Given the description of an element on the screen output the (x, y) to click on. 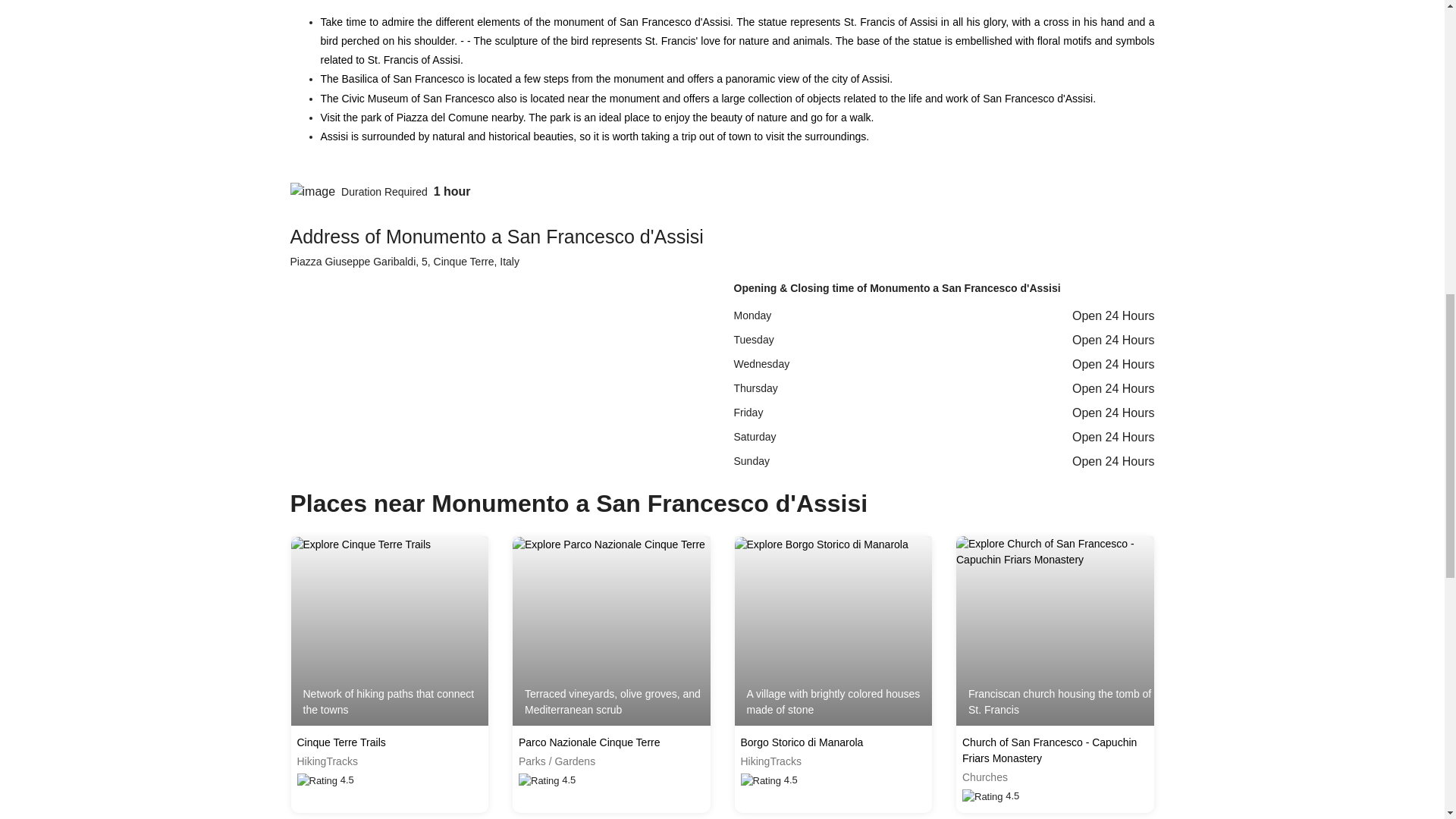
Explore Borgo Storico di Manarola  (820, 544)
Churches (1055, 777)
Terraced vineyards, olive groves, and Mediterranean scrub (611, 630)
Borgo Storico di Manarola (832, 742)
A village with brightly colored houses made of stone (832, 630)
Church of San Francesco - Capuchin Friars Monastery (1055, 750)
Network of hiking paths that connect the towns (390, 630)
Explore Parco Nazionale Cinque Terre  (608, 544)
Parco Nazionale Cinque Terre (611, 742)
Franciscan church housing the tomb of St. Francis (1055, 630)
